Given the description of an element on the screen output the (x, y) to click on. 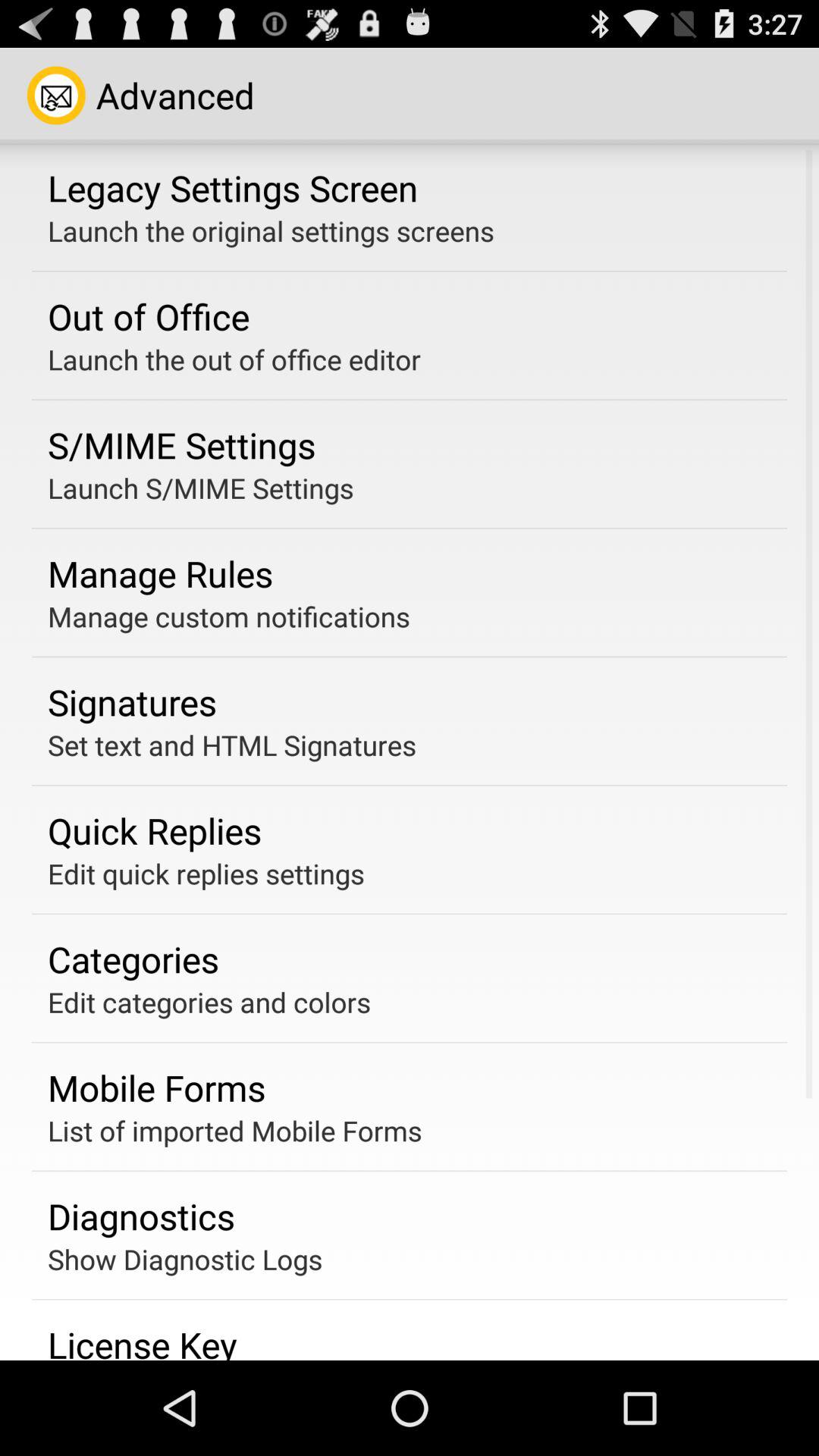
swipe until the list of imported icon (234, 1130)
